Given the description of an element on the screen output the (x, y) to click on. 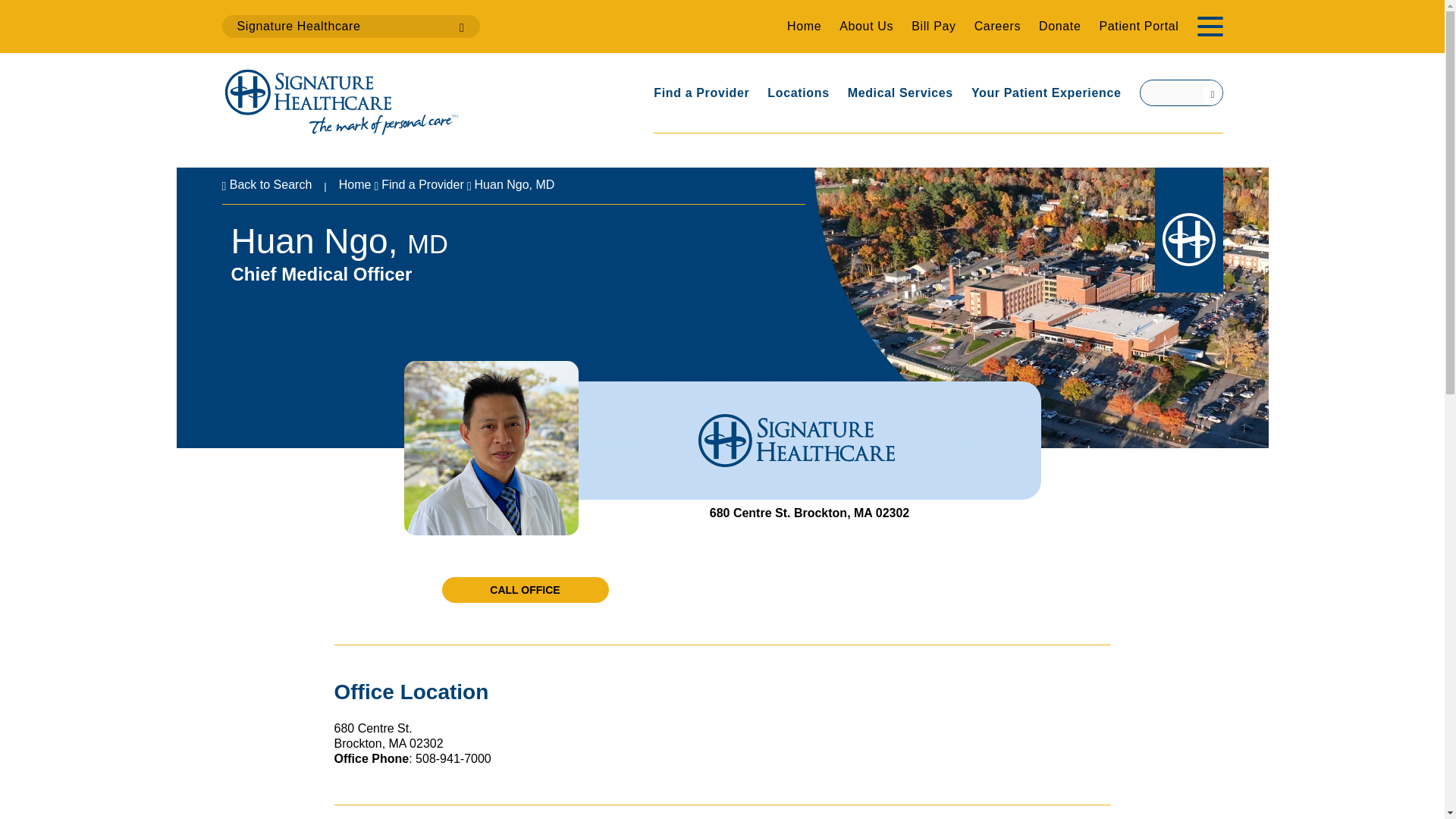
Home (355, 185)
Locations (797, 92)
Medical Services (900, 92)
Donate (1059, 25)
About Us (866, 25)
Back to Search (266, 185)
Careers (997, 25)
Find a Provider (701, 92)
Patient Portal (1138, 25)
Find a Provider (422, 185)
Home (804, 25)
Your Patient Experience (1046, 92)
Bill Pay (933, 25)
CALL OFFICE (524, 589)
